Given the description of an element on the screen output the (x, y) to click on. 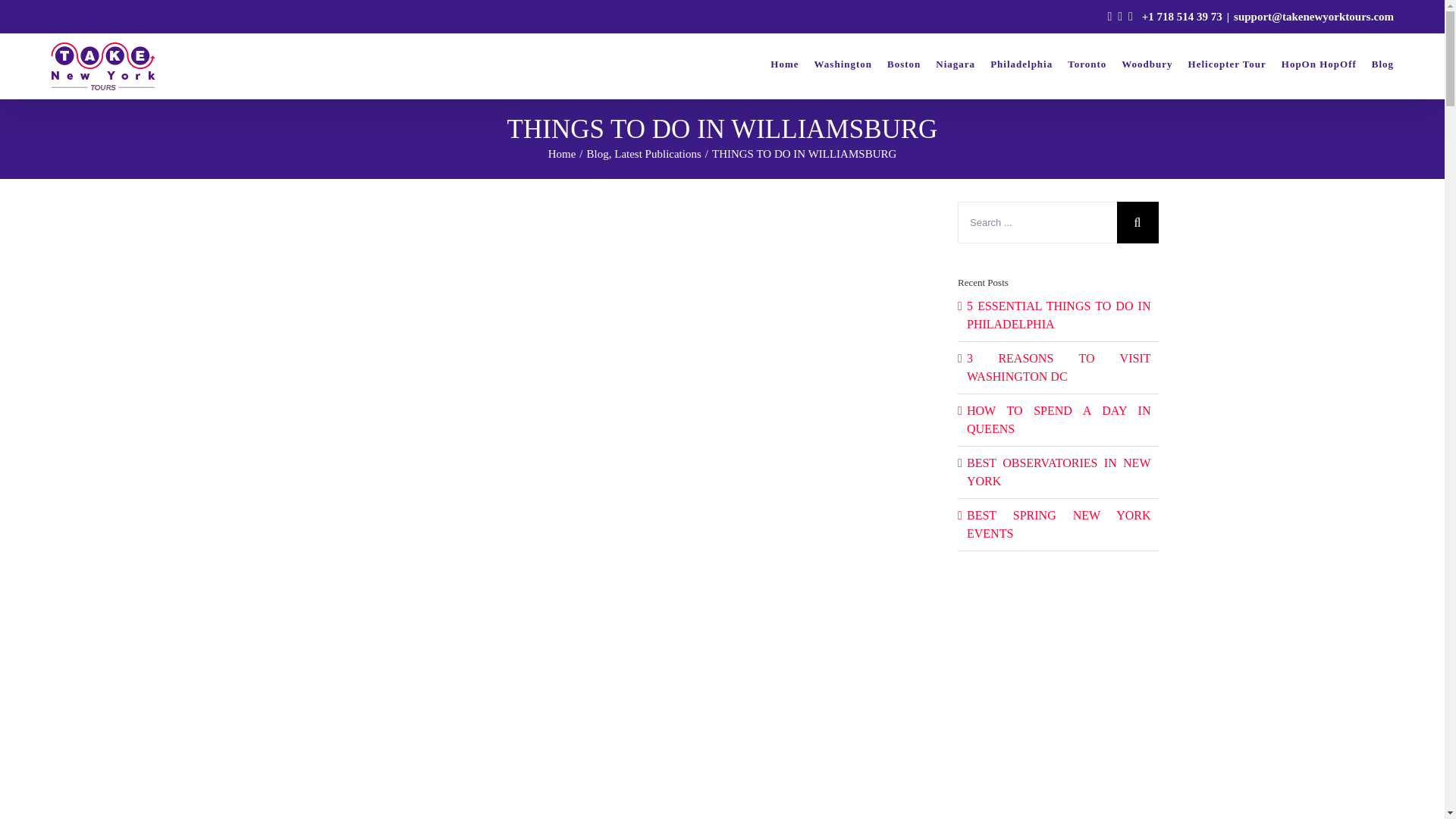
HopOn HopOff (1318, 64)
Philadelphia (1021, 64)
Helicopter Tour (1227, 64)
Washington (842, 64)
